Given the description of an element on the screen output the (x, y) to click on. 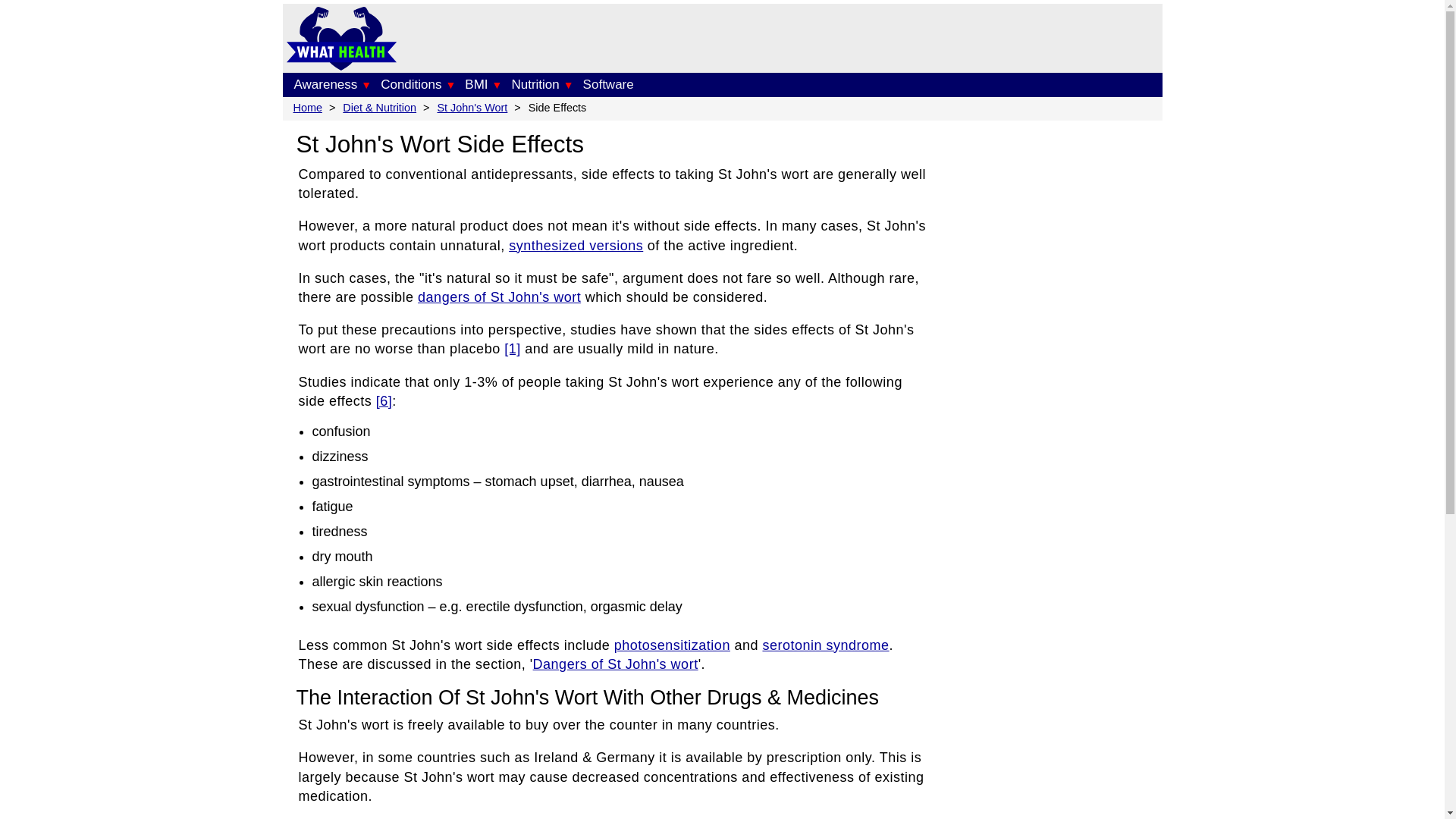
What Health Home Page (341, 65)
